Given the description of an element on the screen output the (x, y) to click on. 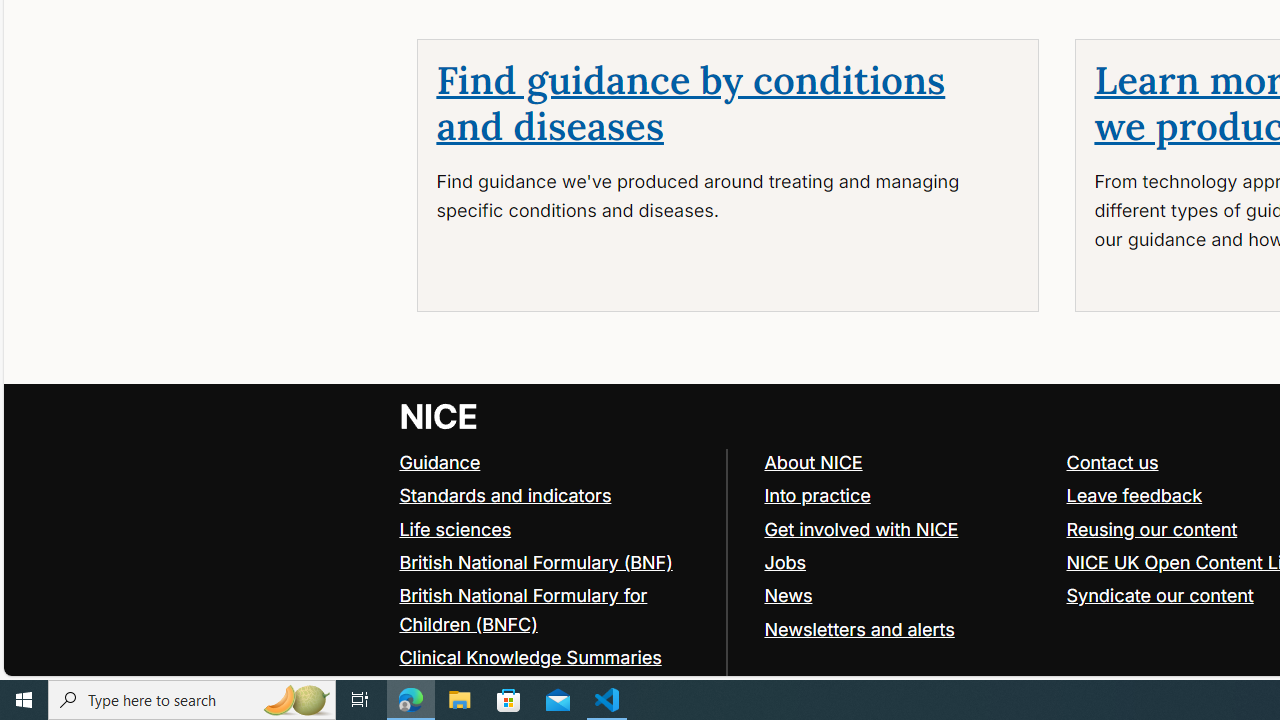
Jobs (906, 562)
Newsletters and alerts (859, 628)
Find guidance by conditions and diseases (690, 103)
British National Formulary for Children (BNFC) (554, 610)
Syndicate our content (1160, 594)
Jobs (785, 561)
About NICE (813, 461)
Into practice (817, 494)
British National Formulary for Children (BNFC) (523, 609)
Get involved with NICE (861, 528)
Reusing our content (1151, 528)
